Given the description of an element on the screen output the (x, y) to click on. 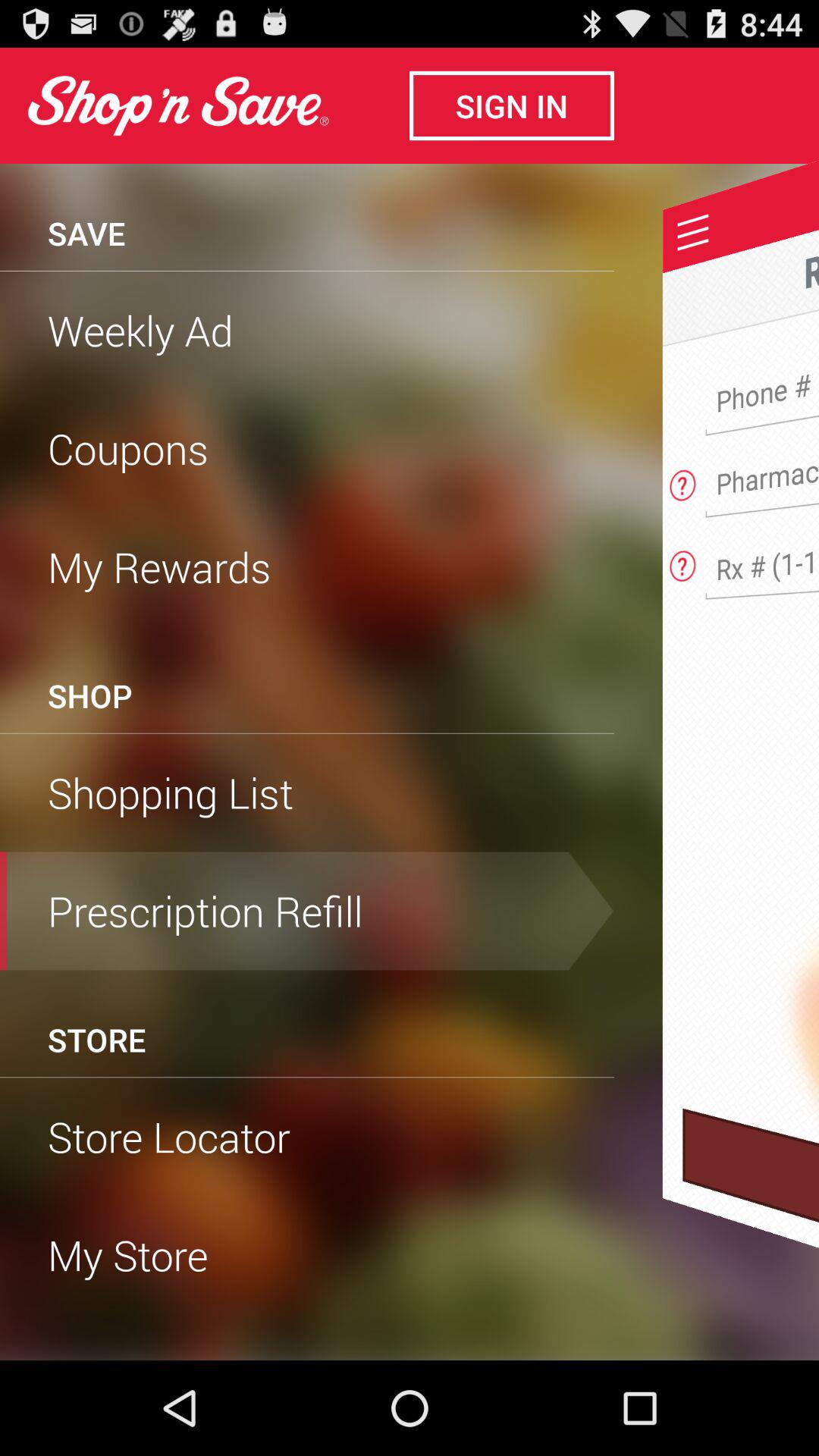
tap item next to the refill a prescription (307, 270)
